Given the description of an element on the screen output the (x, y) to click on. 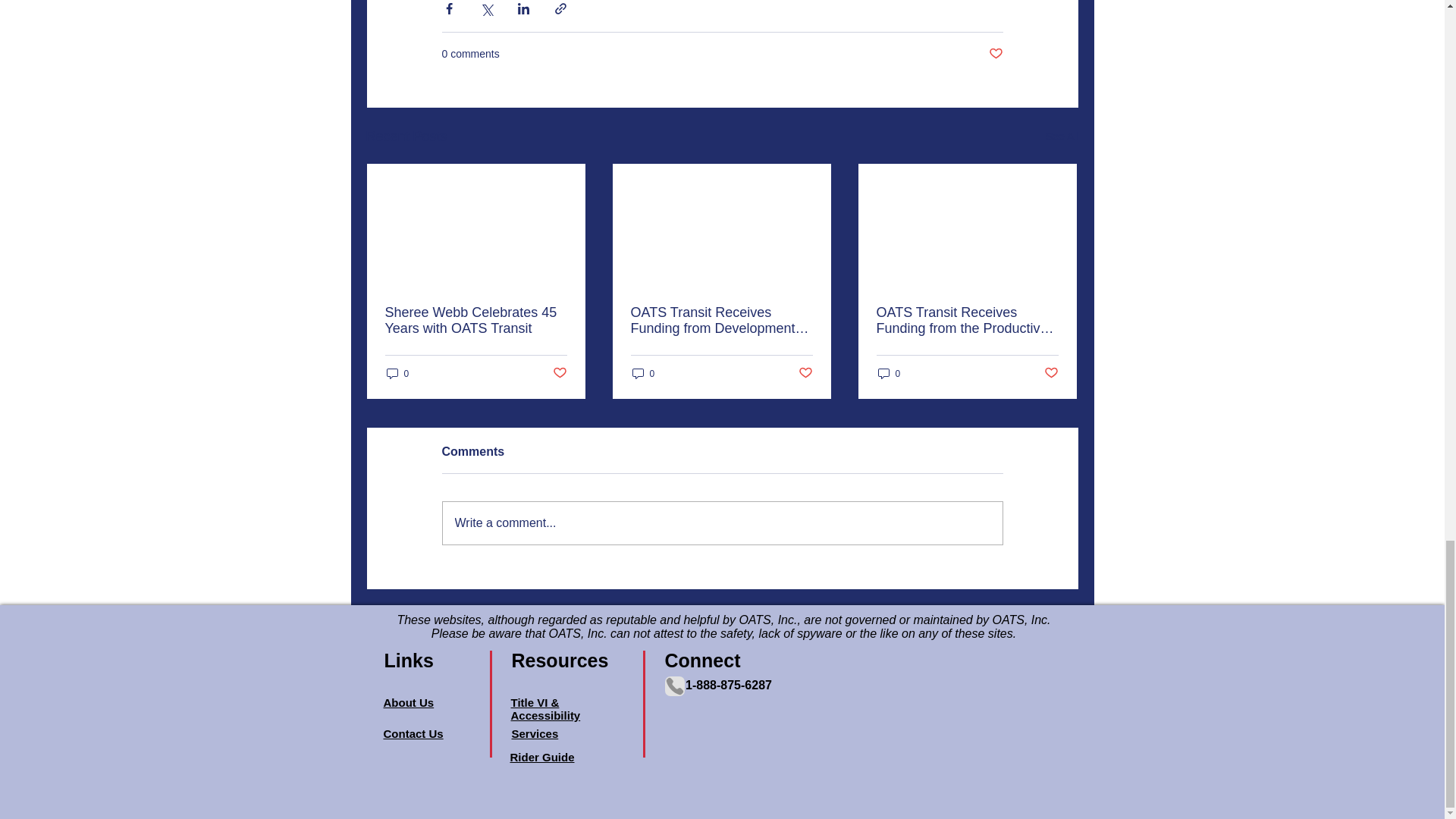
See All (1061, 137)
0 (397, 373)
Sheree Webb Celebrates 45 Years with OATS Transit (476, 320)
Post not marked as liked (995, 53)
